Given the description of an element on the screen output the (x, y) to click on. 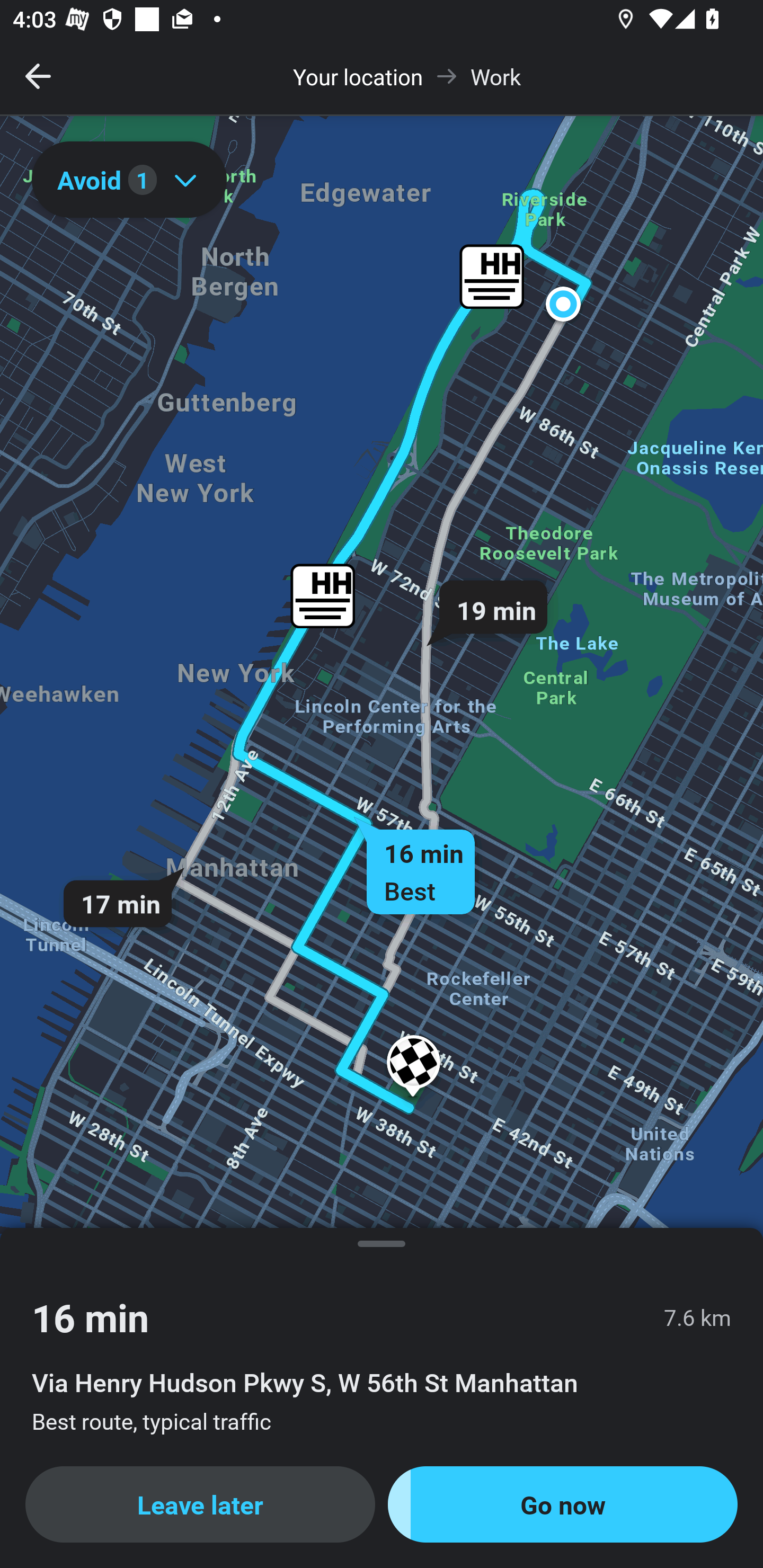
Leave later (200, 1504)
Go now (562, 1504)
